Given the description of an element on the screen output the (x, y) to click on. 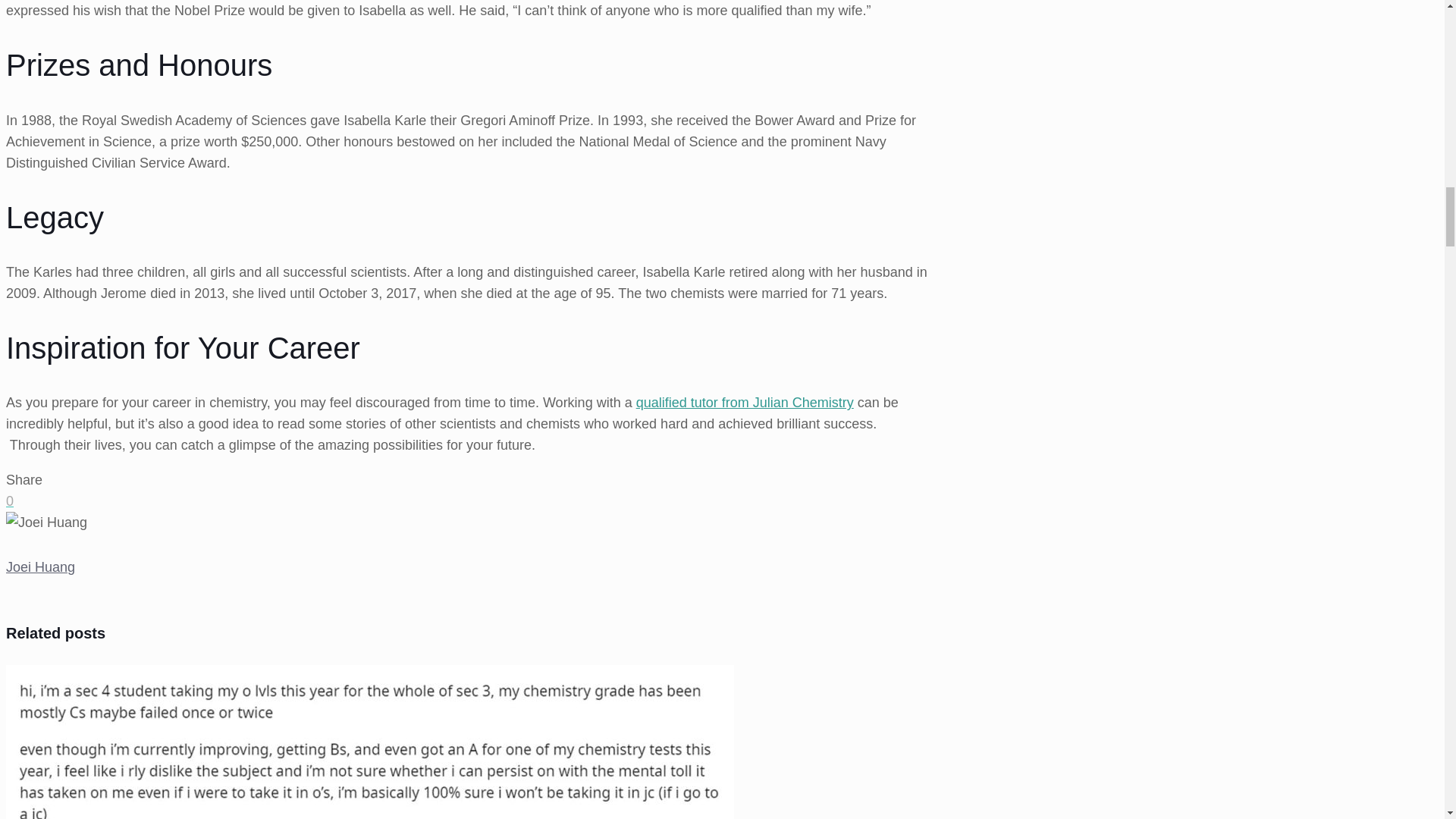
chemistry tutor Singapore (744, 402)
